Given the description of an element on the screen output the (x, y) to click on. 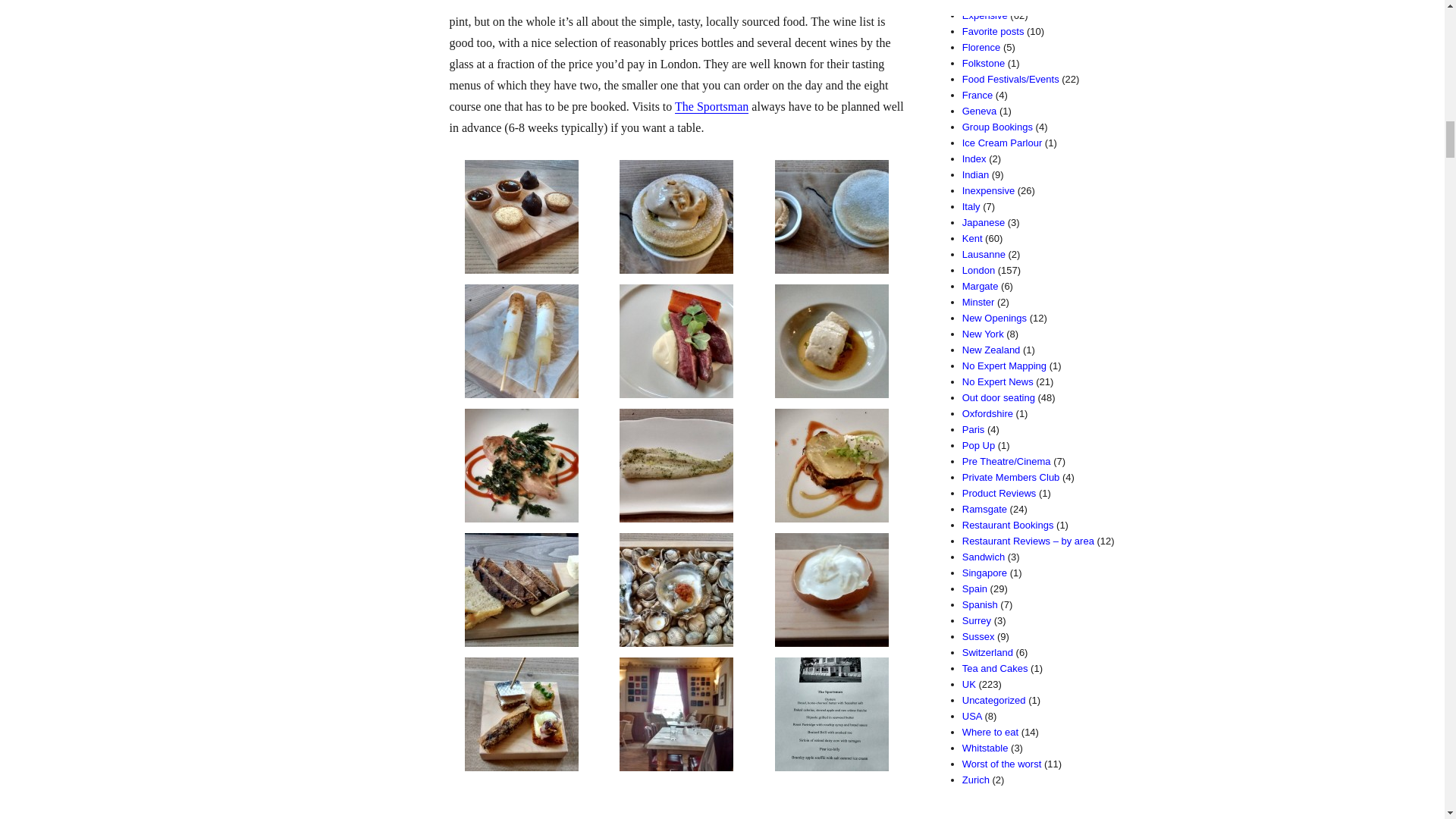
The Sportsman (485, 3)
